Given the description of an element on the screen output the (x, y) to click on. 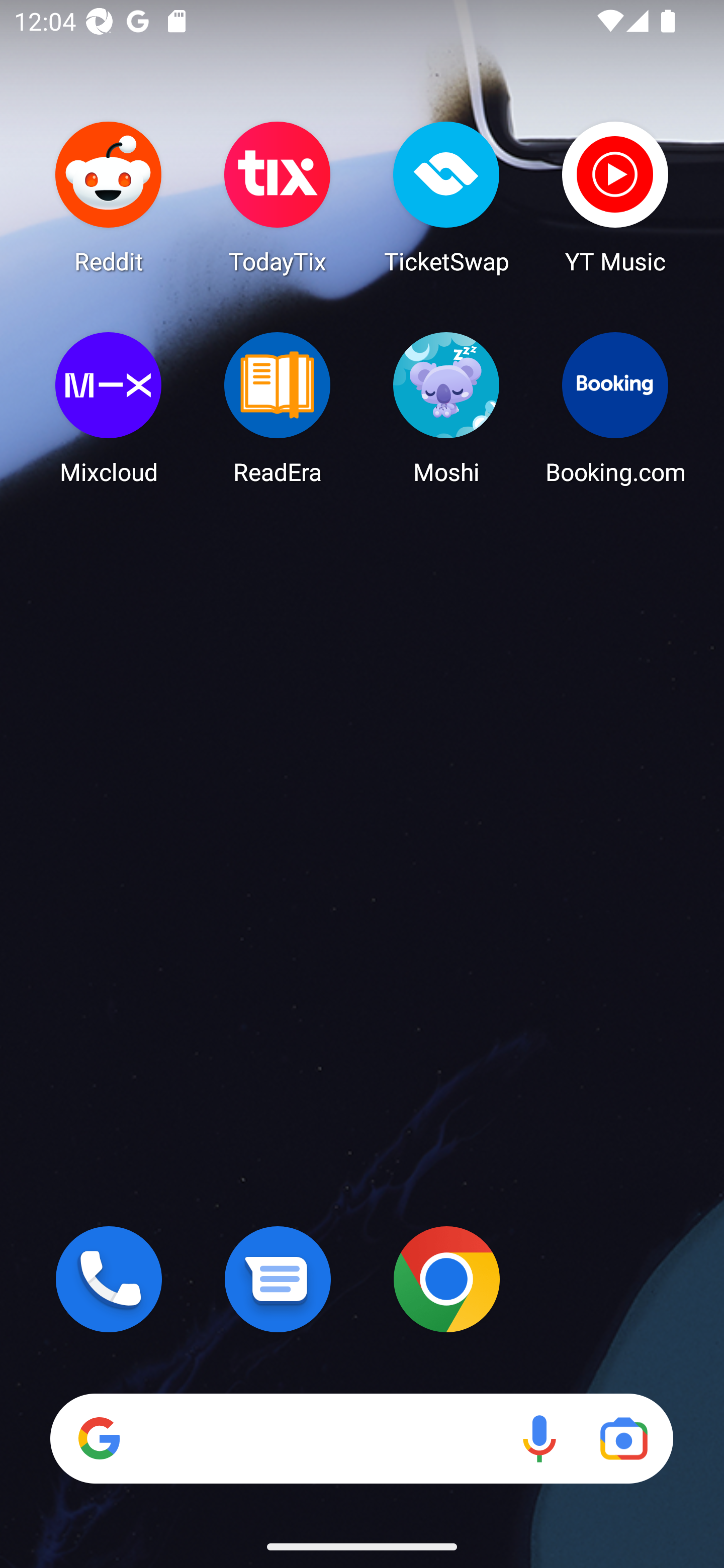
Reddit (108, 196)
TodayTix (277, 196)
TicketSwap (445, 196)
YT Music (615, 196)
Mixcloud (108, 407)
ReadEra (277, 407)
Moshi (445, 407)
Booking.com (615, 407)
Phone (108, 1279)
Messages (277, 1279)
Chrome (446, 1279)
Search Voice search Google Lens (361, 1438)
Voice search (539, 1438)
Google Lens (623, 1438)
